Given the description of an element on the screen output the (x, y) to click on. 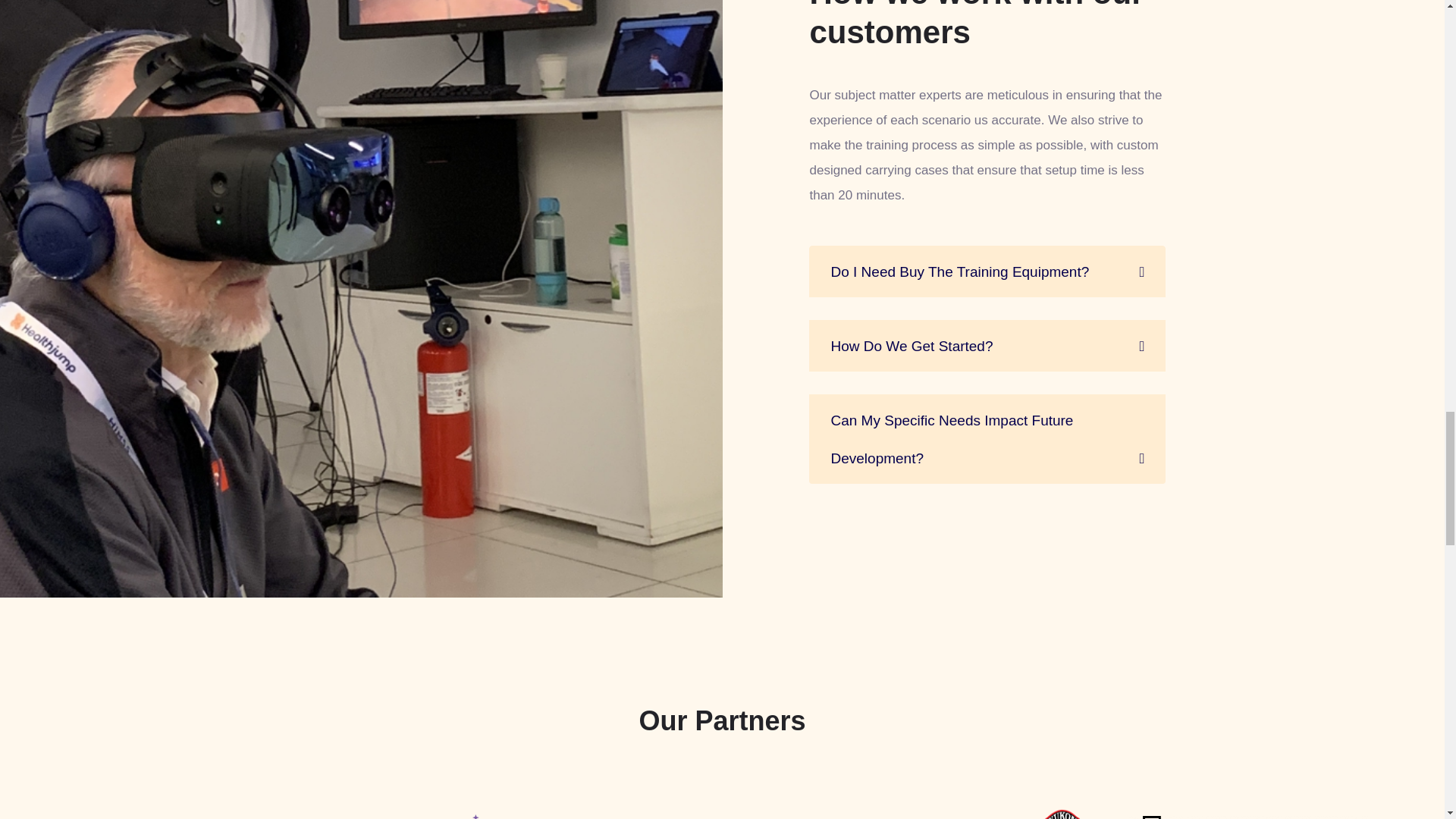
Can My Specific Needs Impact Future Development? (986, 439)
How Do We Get Started? (986, 346)
Do I Need Buy The Training Equipment? (986, 272)
